Given the description of an element on the screen output the (x, y) to click on. 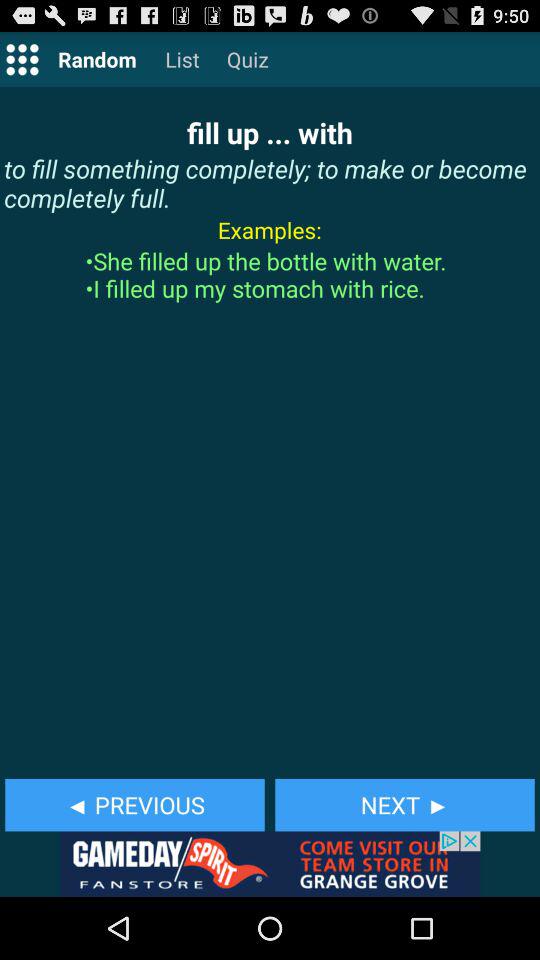
option (22, 58)
